Given the description of an element on the screen output the (x, y) to click on. 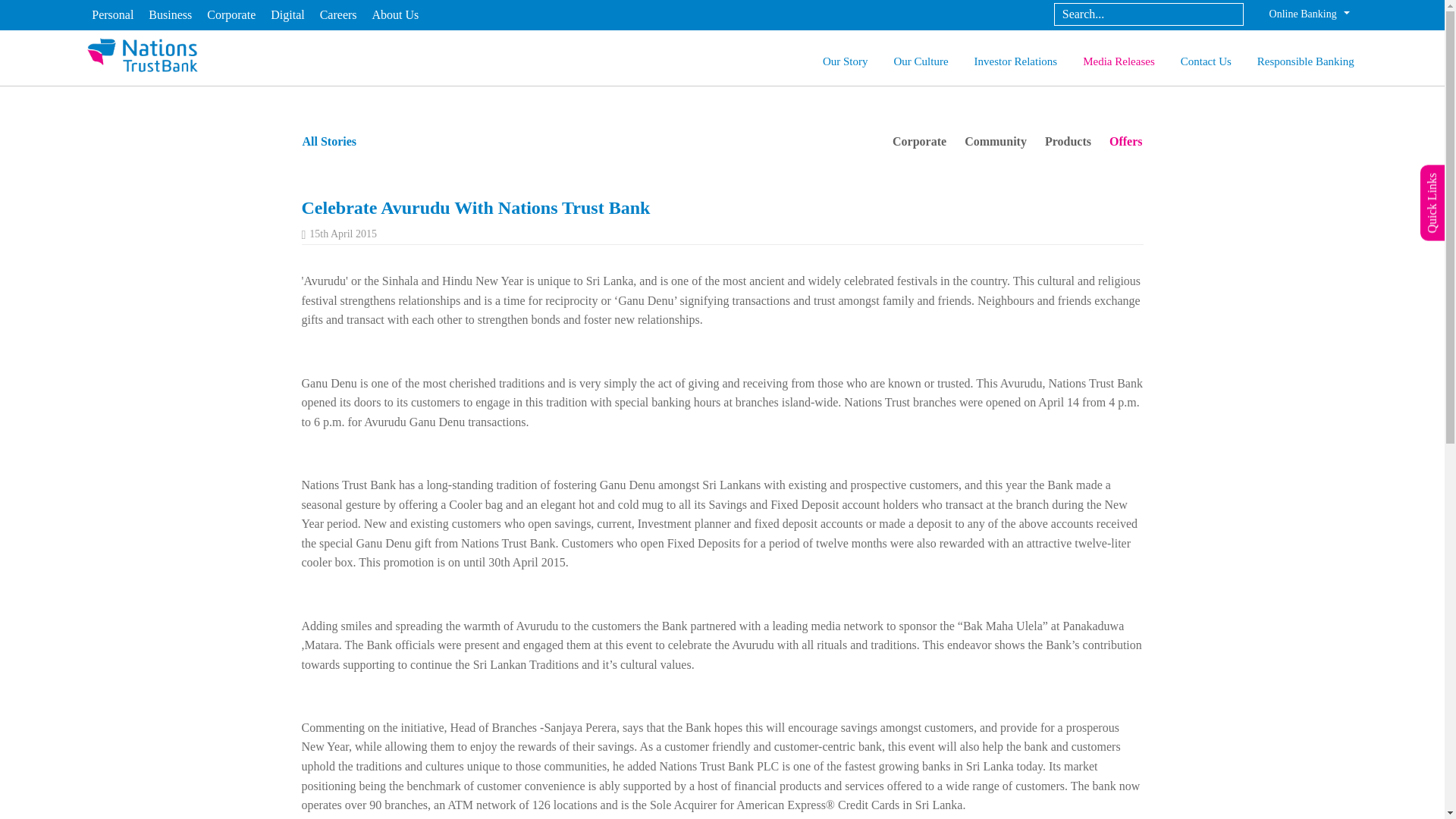
Contact Us (1206, 63)
Corporate (919, 141)
Responsible Banking (1305, 63)
Offers (1126, 141)
Community (994, 141)
Media Releases (1118, 63)
Online Banking (1309, 13)
All Stories (328, 141)
Our Story (844, 63)
Products (1067, 141)
